Given the description of an element on the screen output the (x, y) to click on. 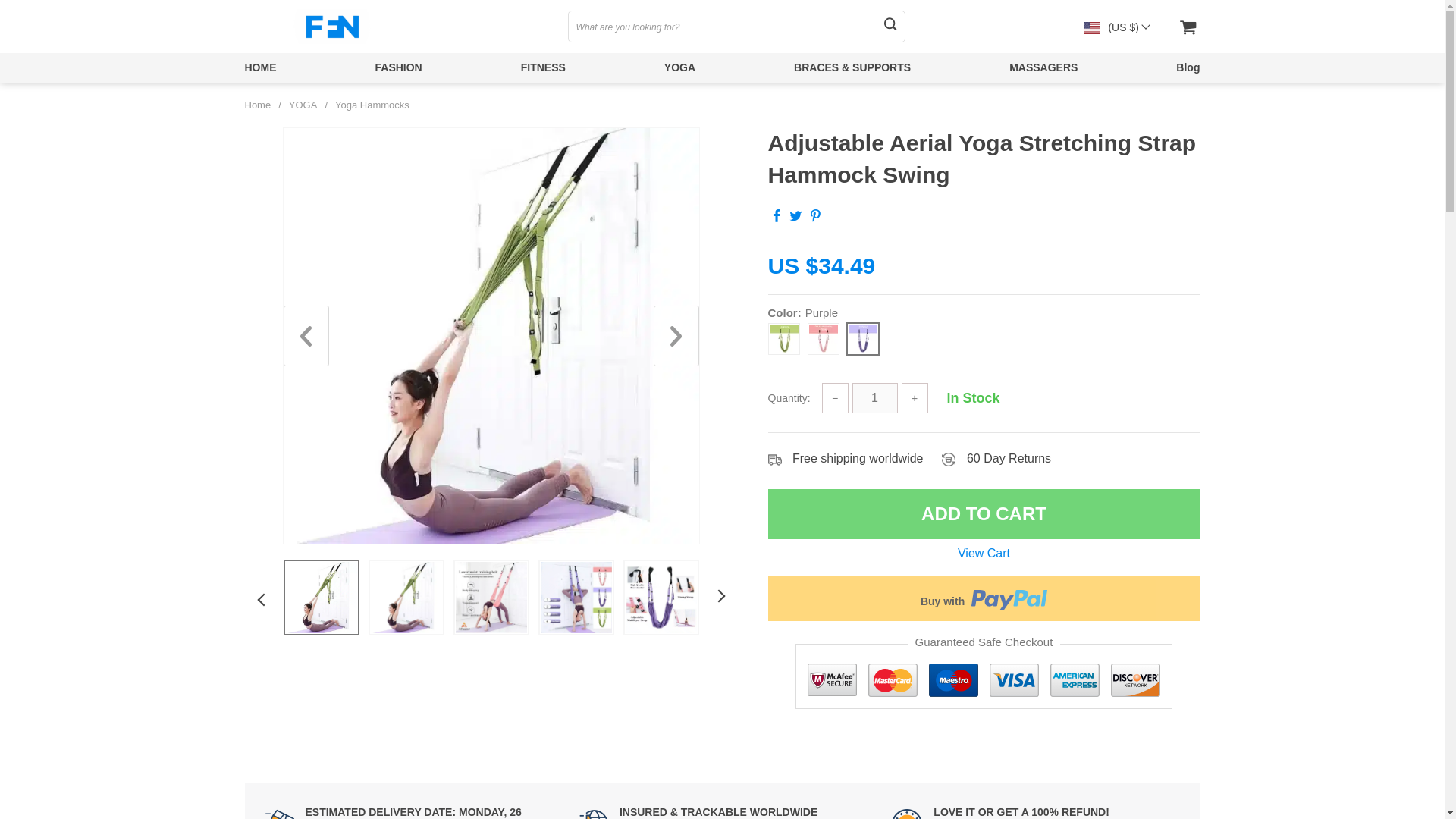
HOME (260, 67)
YOGA (679, 67)
Color:Purple (983, 334)
73326-a9a9d6.webp (575, 597)
MASSAGERS (1043, 67)
FASHION (398, 67)
73326-f398c2.webp (659, 597)
73326-069d6d.webp (405, 597)
1 (874, 398)
FITNESS (543, 67)
